Given the description of an element on the screen output the (x, y) to click on. 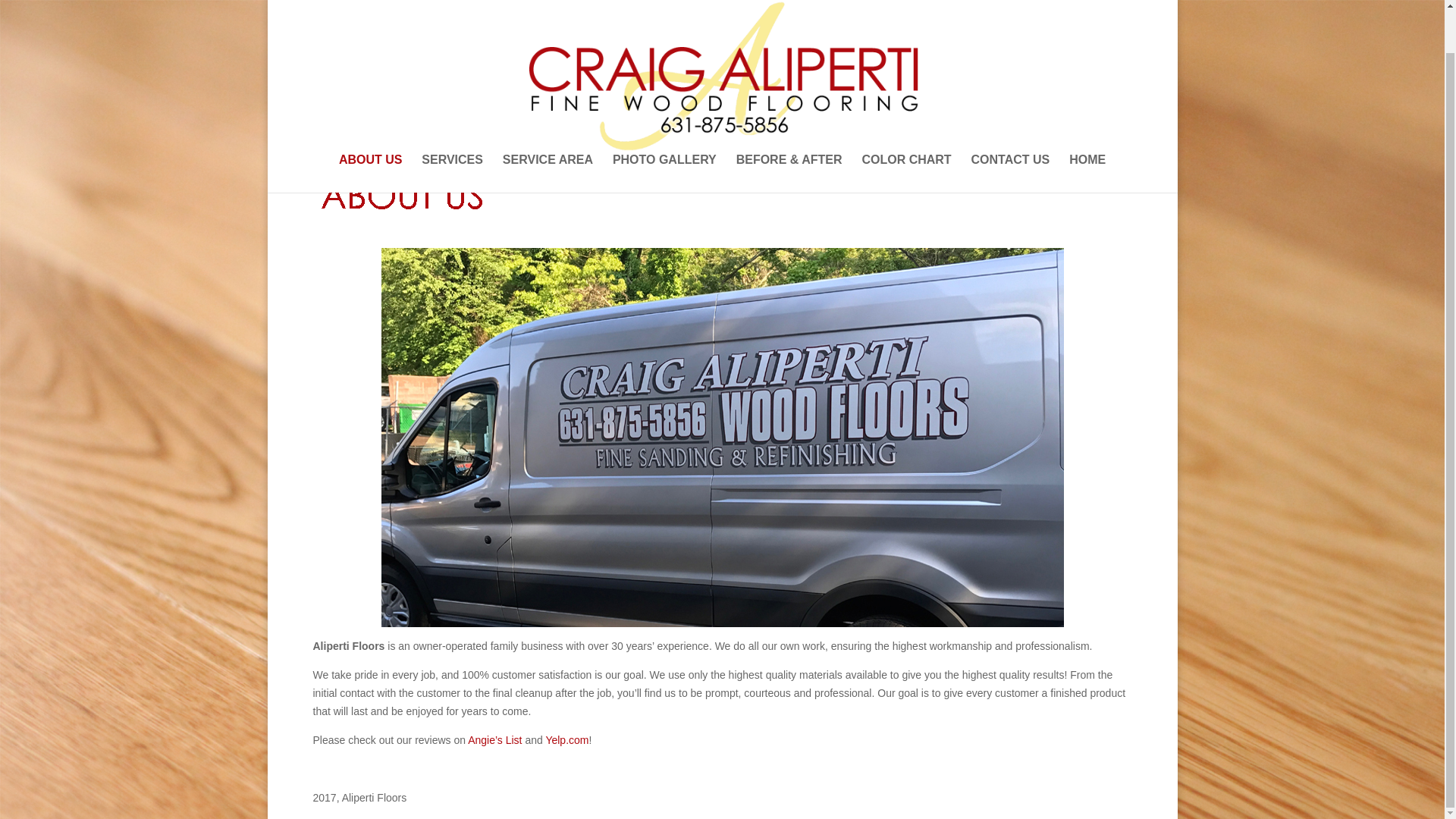
PHOTO GALLERY (664, 127)
SERVICES (452, 127)
Yelp.com (566, 739)
COLOR CHART (905, 127)
ABOUT US (371, 127)
HOME (1086, 127)
CONTACT US (1010, 127)
SERVICE AREA (547, 127)
